Given the description of an element on the screen output the (x, y) to click on. 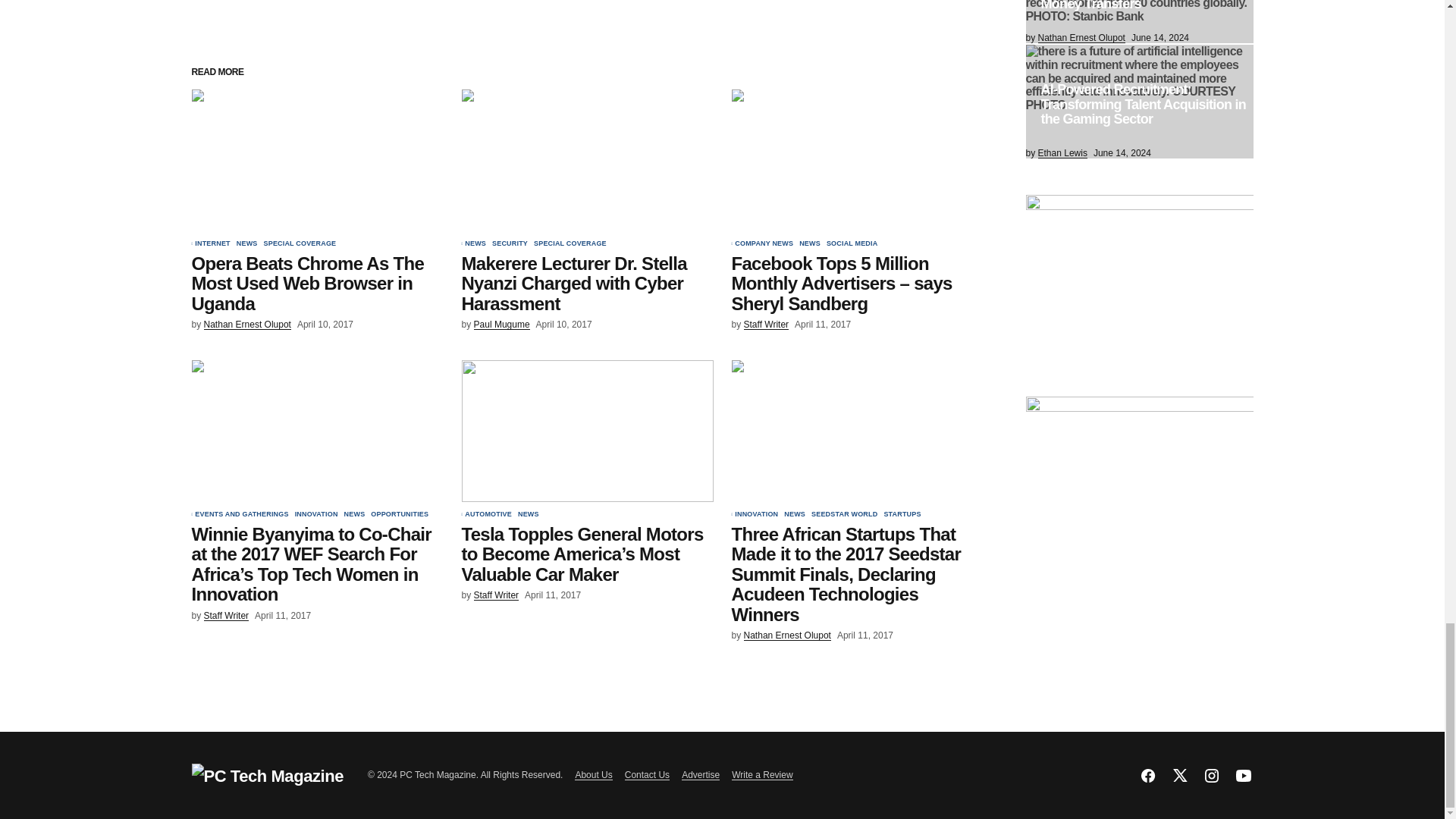
Opera Beats Chrome As The Most Used Web Browser in Uganda (316, 159)
